Given the description of an element on the screen output the (x, y) to click on. 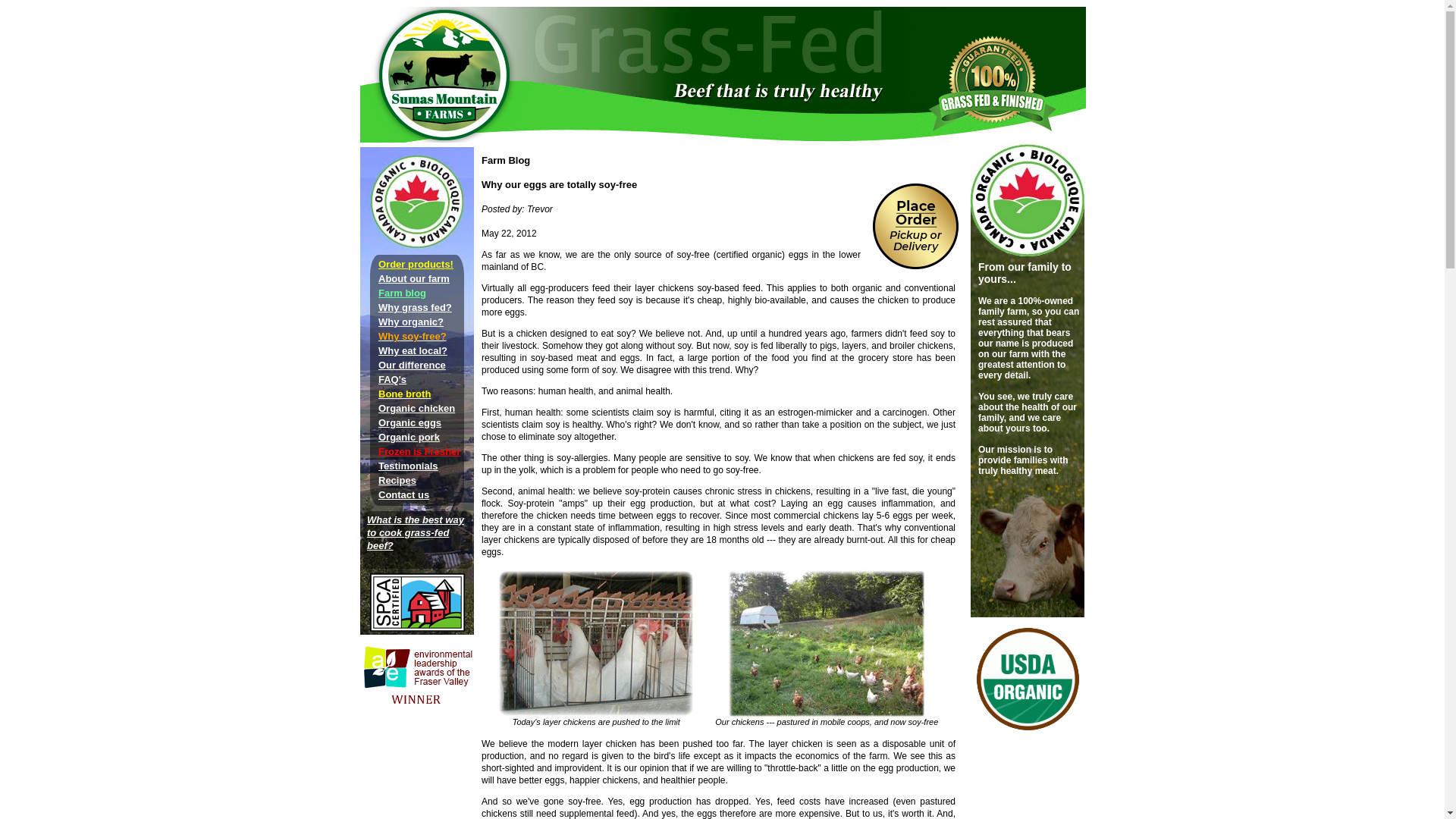
Why organic? (411, 321)
Why eat local? (412, 350)
FAQ's (392, 378)
Why organic? (411, 321)
Organic eggs (409, 422)
Bone broth (404, 393)
Farm blog (402, 292)
Why grass fed? (414, 307)
Organic pork (408, 437)
What makes us different? (411, 365)
